Given the description of an element on the screen output the (x, y) to click on. 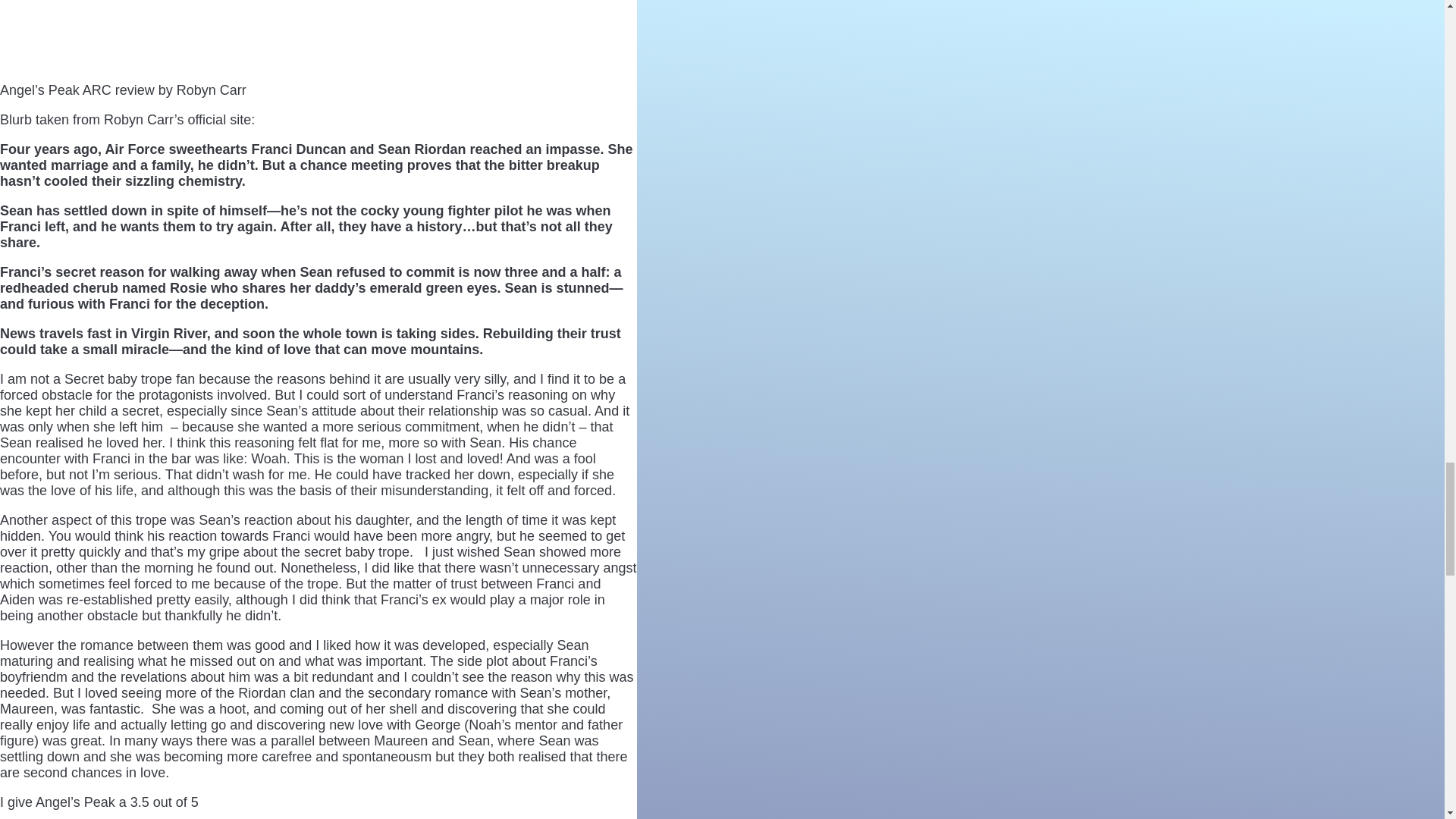
angelspeak (56, 34)
